Given the description of an element on the screen output the (x, y) to click on. 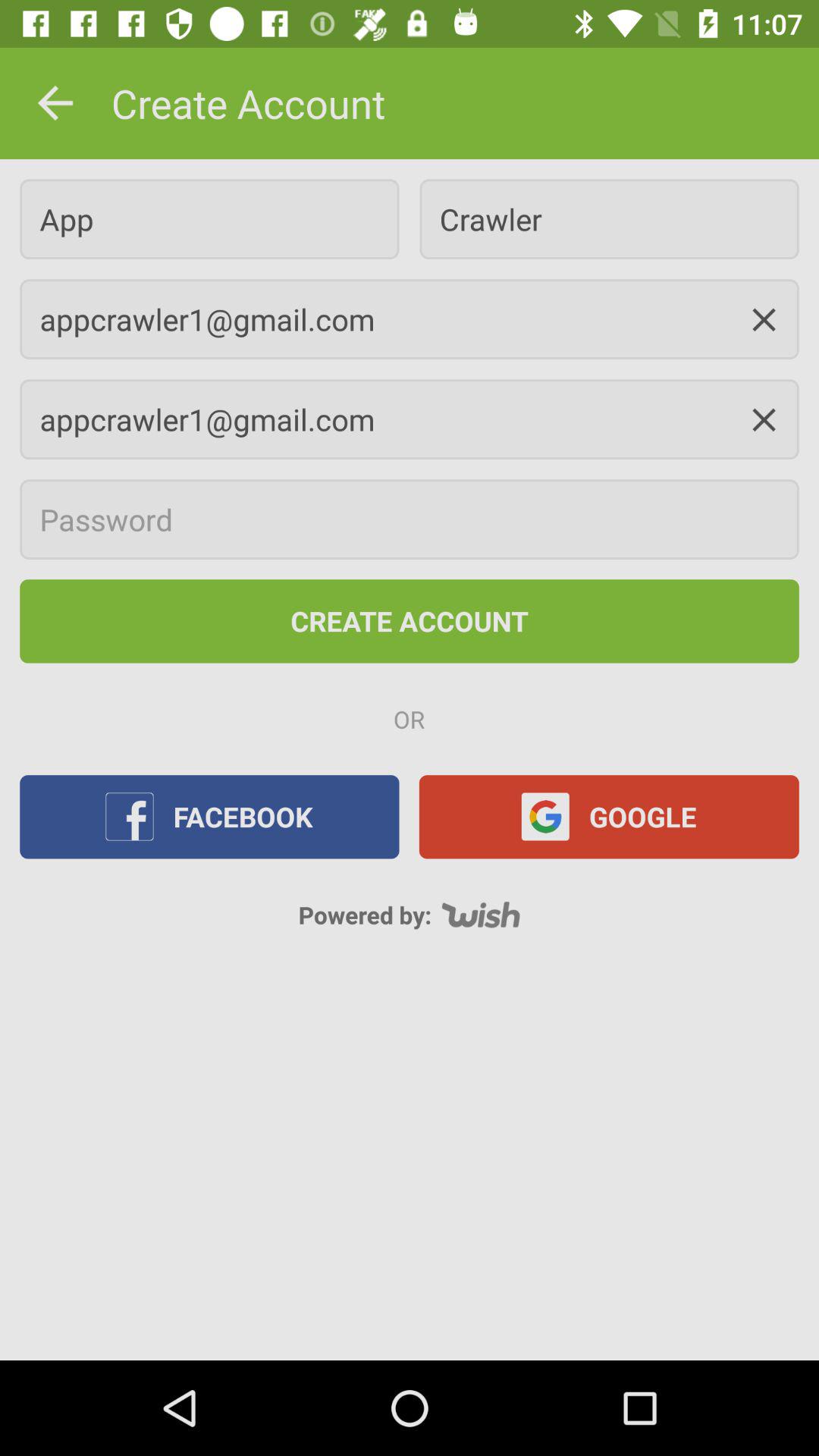
enter your password (409, 519)
